Given the description of an element on the screen output the (x, y) to click on. 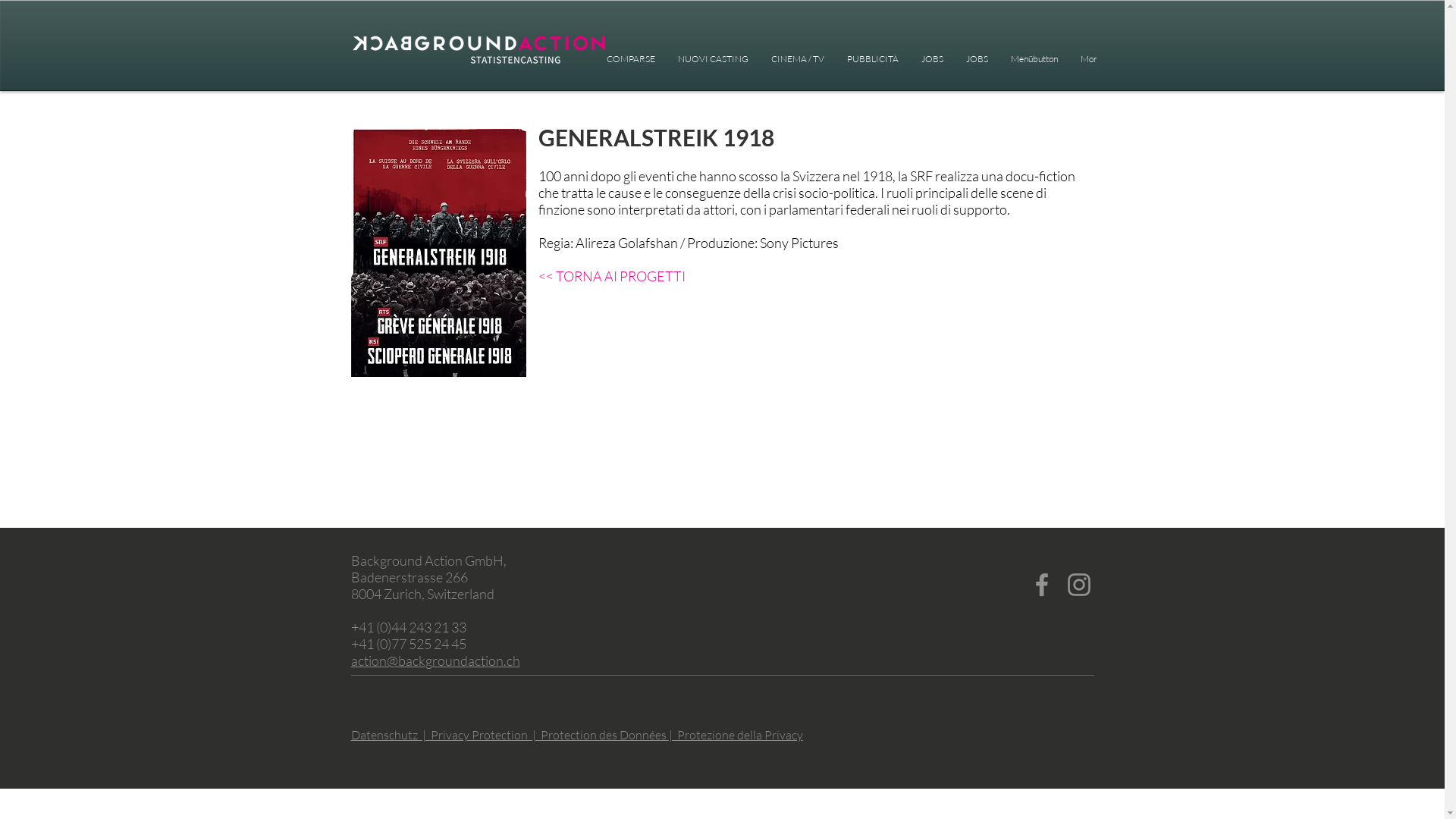
<< TORNA AI PROGETTI Element type: text (611, 275)
JOBS Element type: text (975, 61)
COMPARSE Element type: text (629, 61)
NUOVI CASTING Element type: text (712, 61)
JOBS Element type: text (932, 61)
|  Protezione della Privacy Element type: text (735, 734)
77 525 24 45 Element type: text (428, 643)
CINEMA / TV Element type: text (797, 61)
action@backgroundaction.ch Element type: text (434, 660)
